Given the description of an element on the screen output the (x, y) to click on. 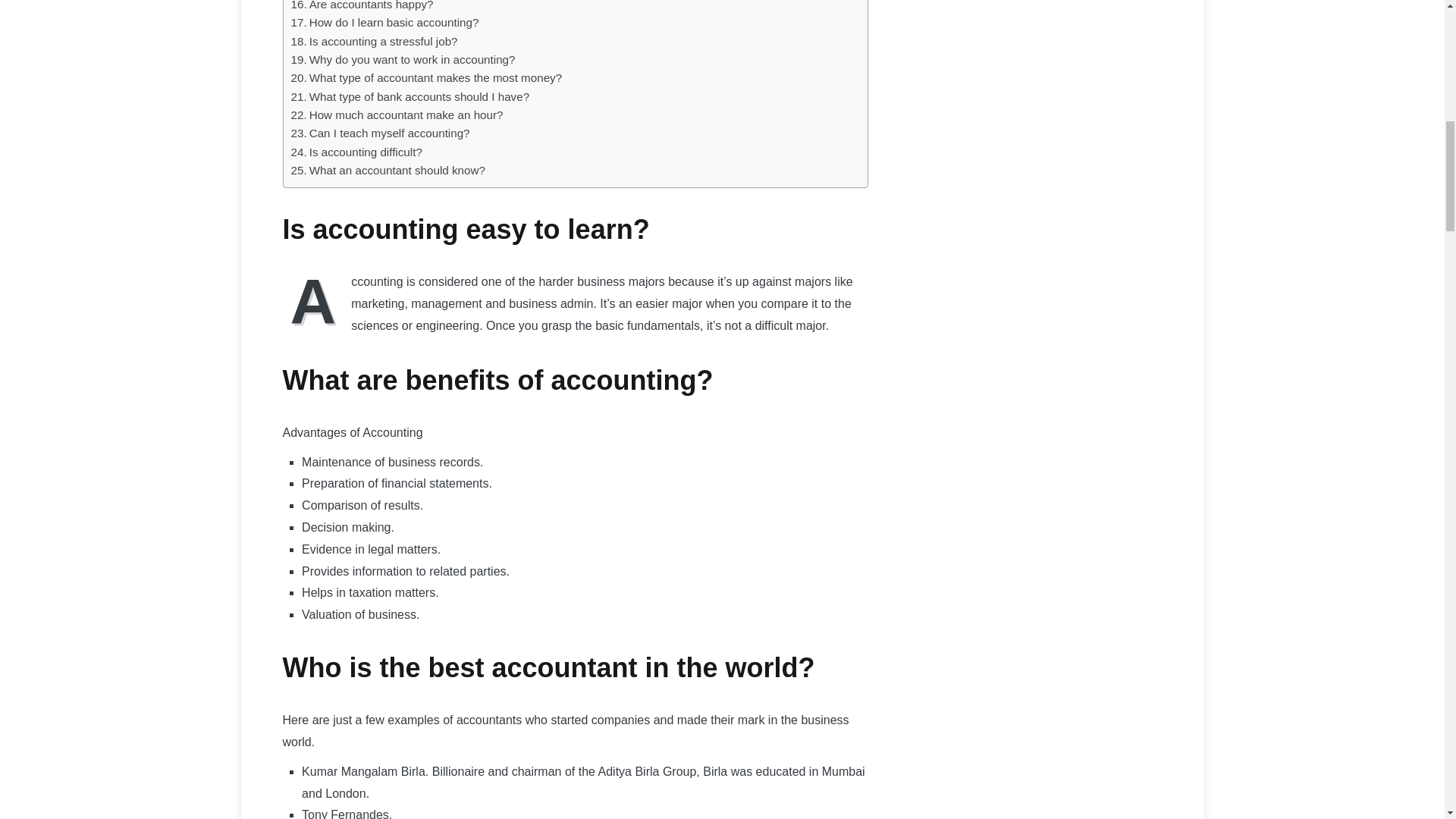
Why do you want to work in accounting? (403, 59)
Is accounting a stressful job? (374, 41)
What type of bank accounts should I have? (410, 96)
How do I learn basic accounting? (385, 22)
Why do you want to work in accounting? (403, 59)
Are accountants happy? (362, 6)
How do I learn basic accounting? (385, 22)
What type of accountant makes the most money? (426, 77)
Is accounting a stressful job? (374, 41)
What type of accountant makes the most money? (426, 77)
Are accountants happy? (362, 6)
